Given the description of an element on the screen output the (x, y) to click on. 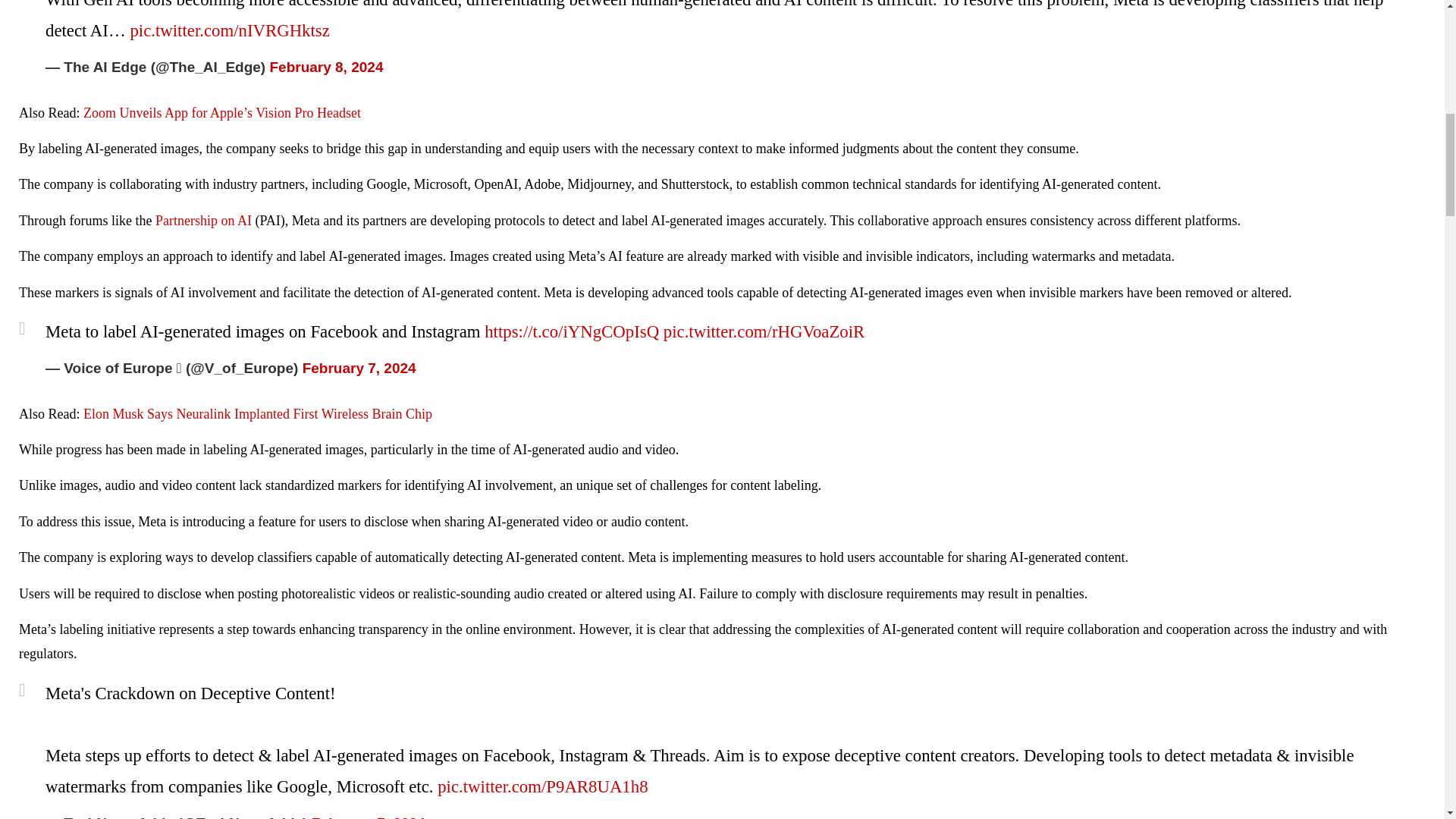
February 8, 2024 (325, 66)
